Given the description of an element on the screen output the (x, y) to click on. 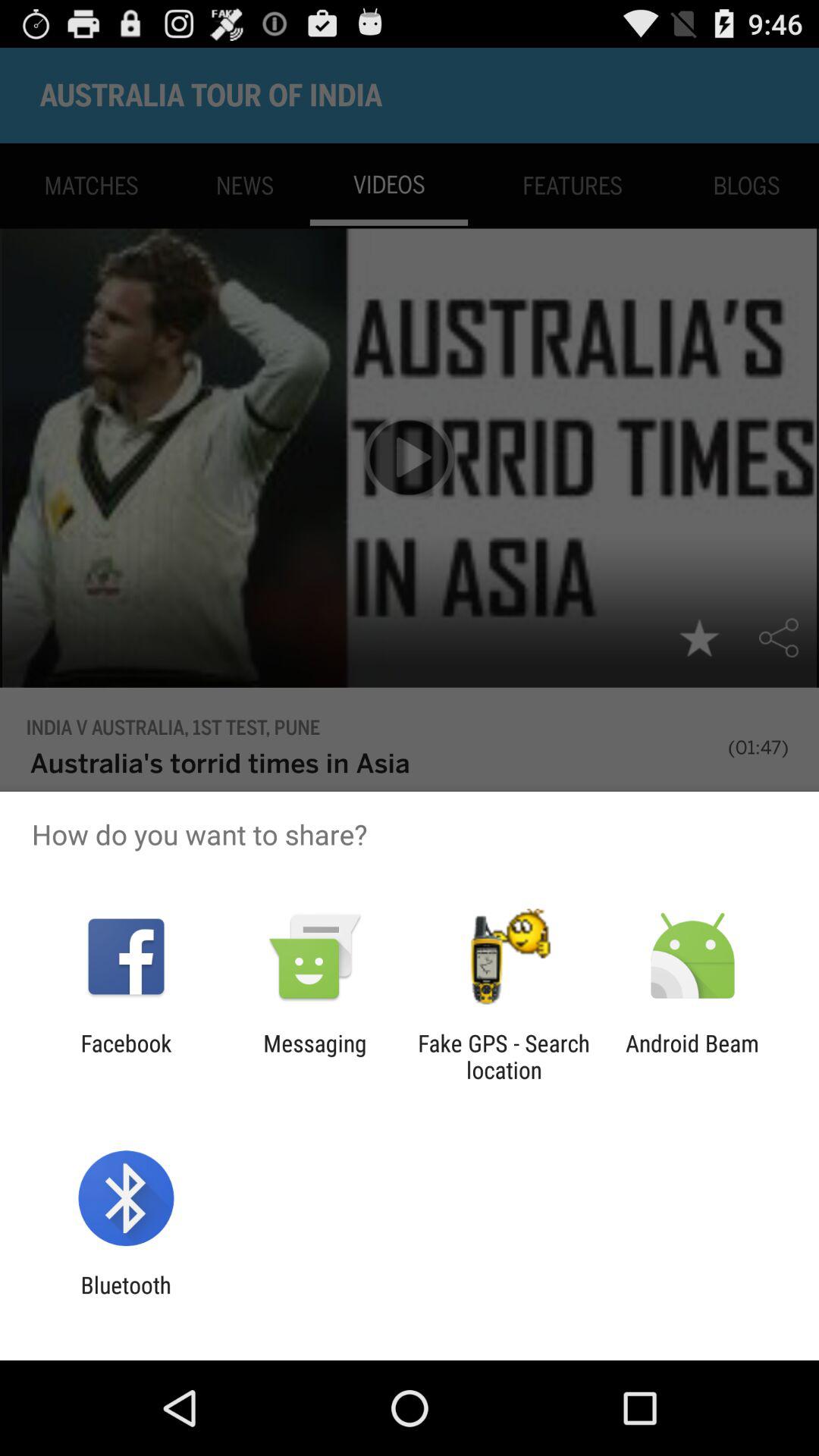
choose icon to the right of fake gps search app (692, 1056)
